Given the description of an element on the screen output the (x, y) to click on. 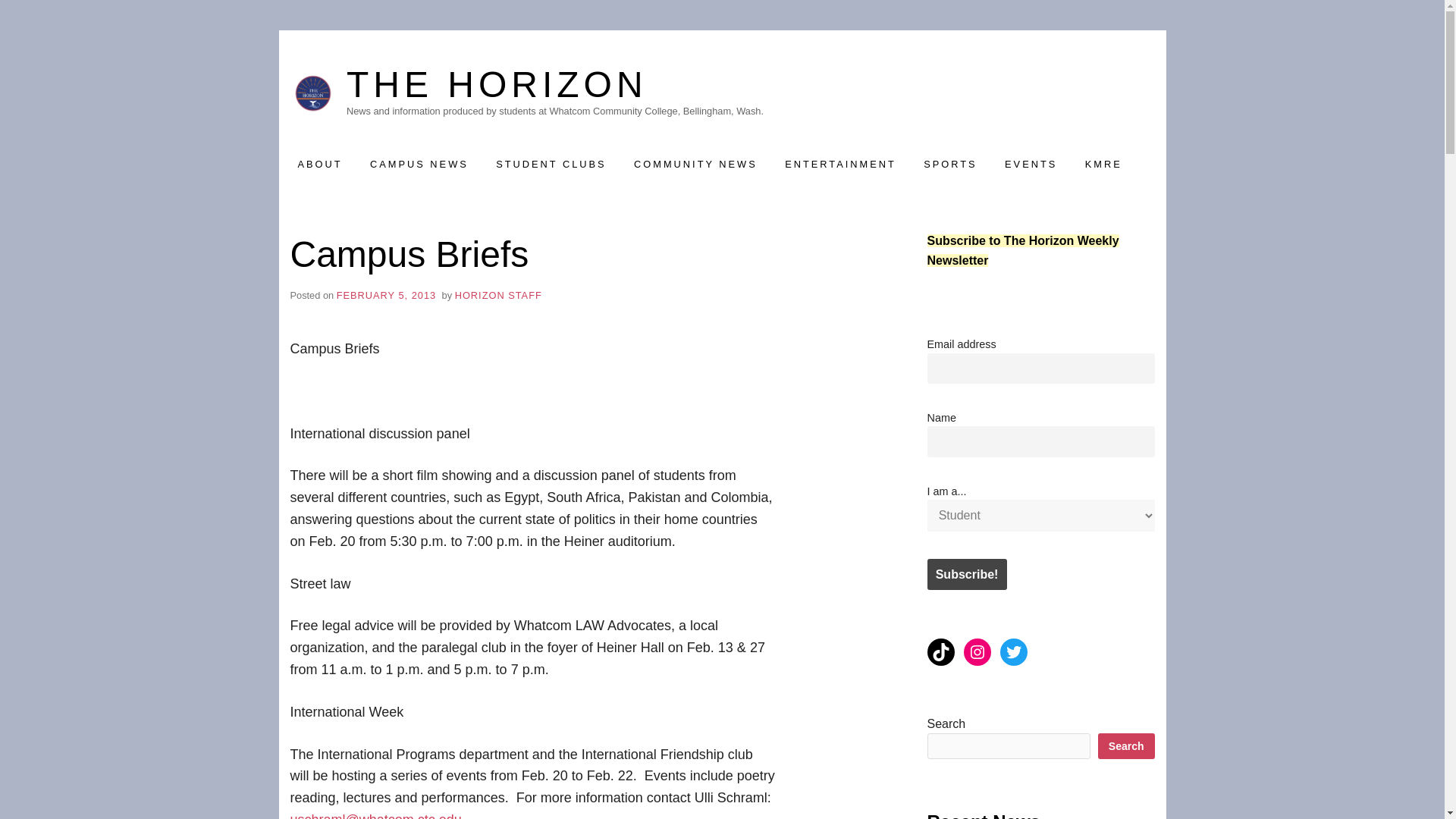
TikTok (939, 651)
Twitter (1012, 651)
HORIZON STAFF (497, 295)
EVENTS (1030, 163)
ENTERTAINMENT (840, 163)
THE HORIZON (554, 84)
Subscribe! (966, 573)
COMMUNITY NEWS (695, 163)
Instagram (976, 651)
